Given the description of an element on the screen output the (x, y) to click on. 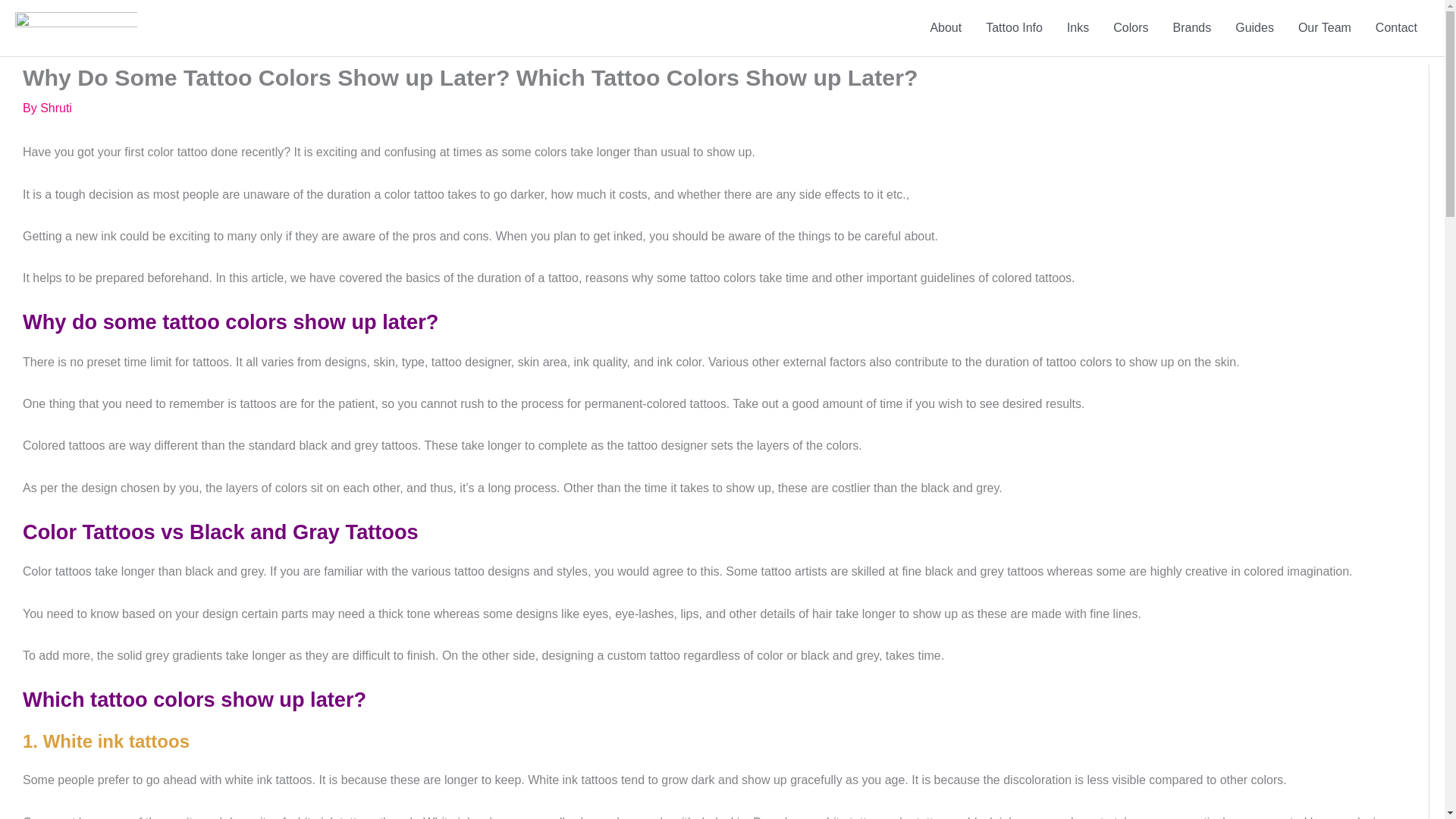
About (945, 28)
Shruti (55, 107)
Guides (1254, 28)
View all posts by Shruti (55, 107)
Our Team (1323, 28)
Colors (1130, 28)
Contact (1395, 28)
Brands (1191, 28)
Tattoo Info (1014, 28)
